Given the description of an element on the screen output the (x, y) to click on. 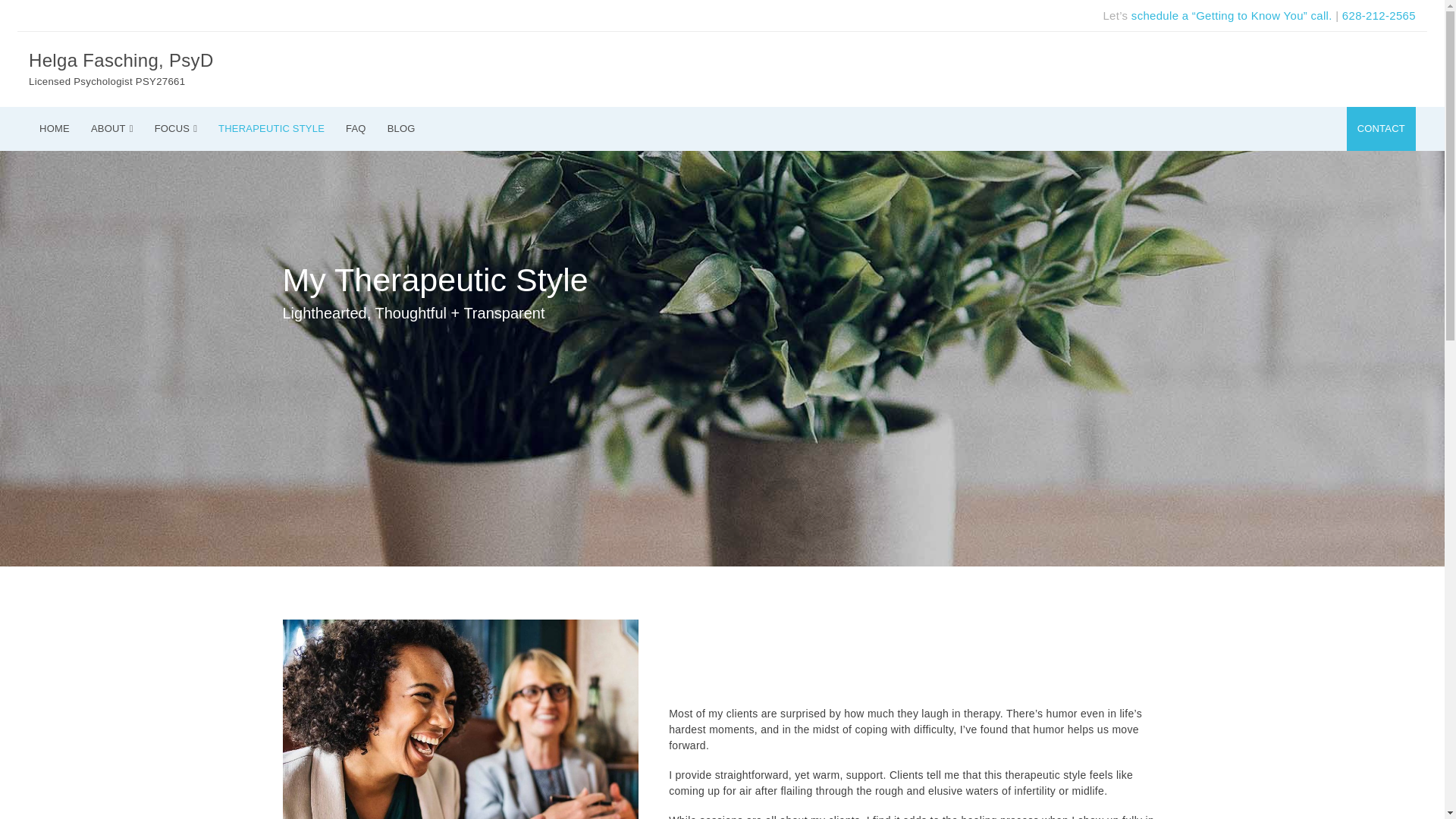
CONTACT (1380, 127)
ABOUT (112, 128)
FOCUS (176, 128)
dr-helga-fasching-psyd-san-francisco-therapist-12 (460, 719)
FAQ (363, 70)
628-212-2565 (355, 127)
BLOG (1378, 15)
THERAPEUTIC STYLE (401, 127)
HOME (271, 127)
